Given the description of an element on the screen output the (x, y) to click on. 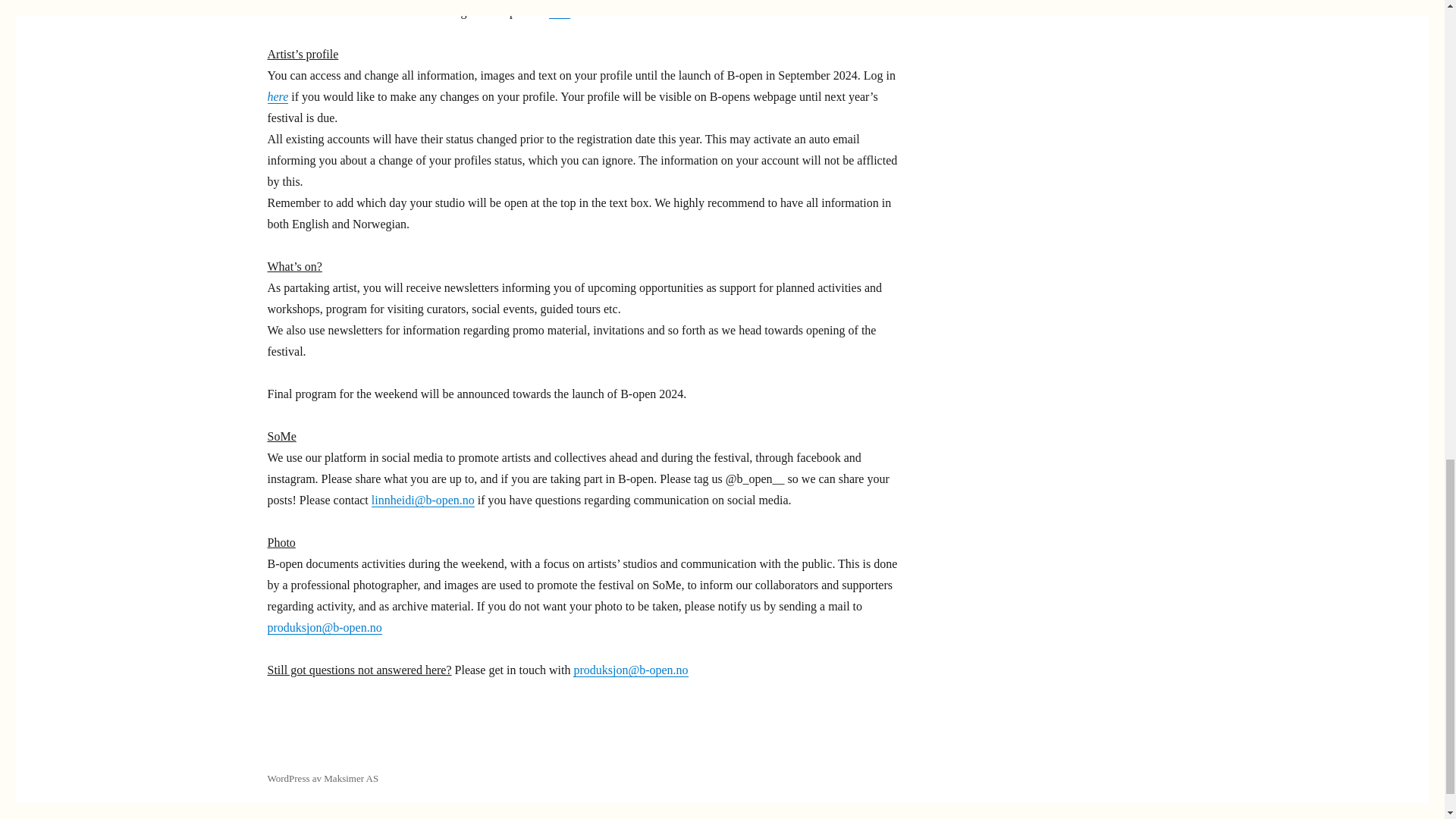
here (277, 96)
here (559, 11)
